Given the description of an element on the screen output the (x, y) to click on. 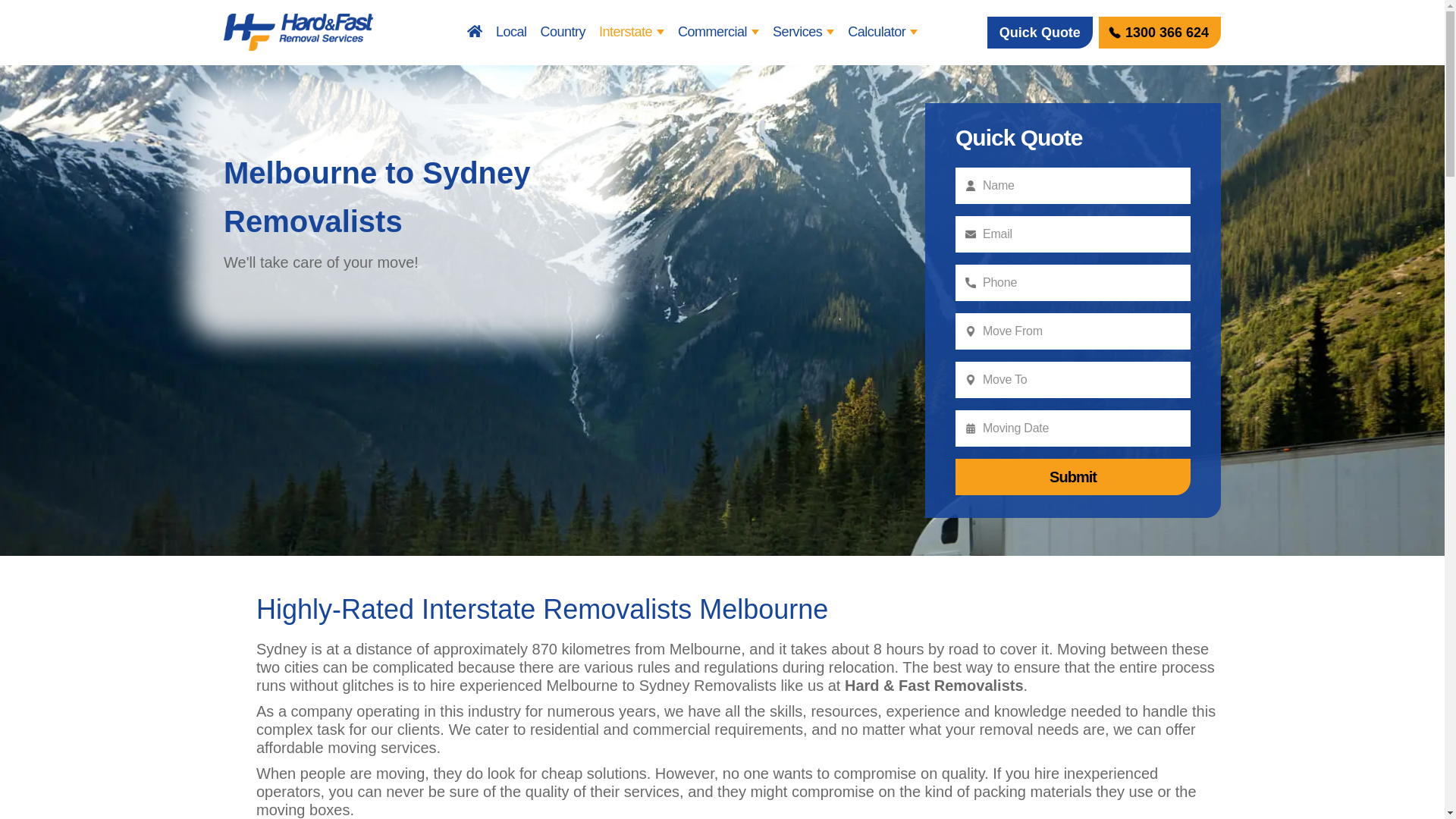
Interstate Element type: text (631, 32)
Calculator Element type: text (882, 32)
Quick Quote Element type: text (1039, 32)
Services Element type: text (803, 32)
Melbourne to Sydney Removalists Element type: hover (722, 310)
1300 366 624 Element type: text (1159, 32)
Submit Element type: text (1072, 476)
Commercial Element type: text (718, 32)
Local Element type: text (511, 32)
Country Element type: text (562, 32)
